Given the description of an element on the screen output the (x, y) to click on. 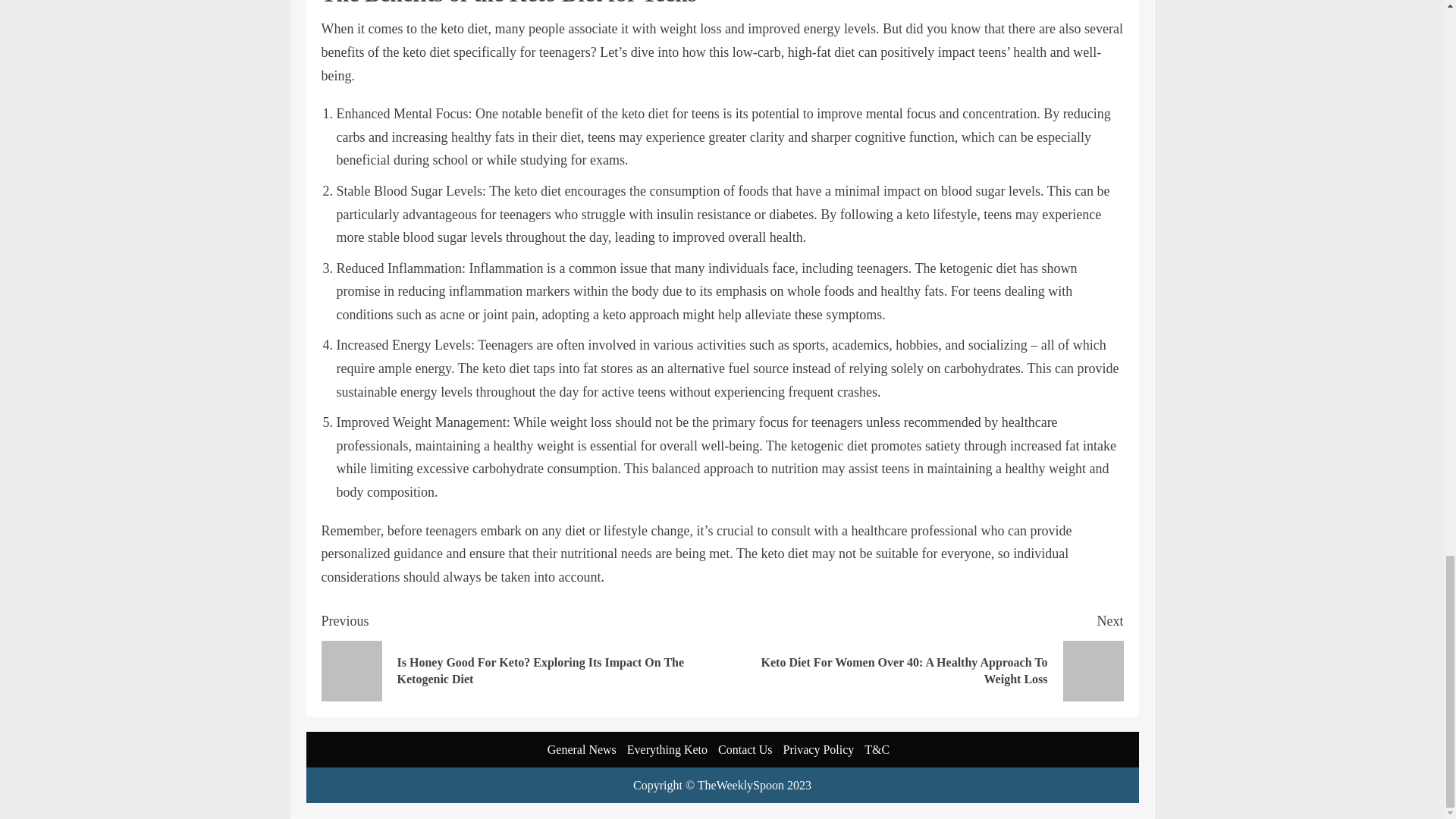
Contact Us (745, 748)
General News (581, 748)
Privacy Policy (818, 748)
Everything Keto (667, 748)
